Given the description of an element on the screen output the (x, y) to click on. 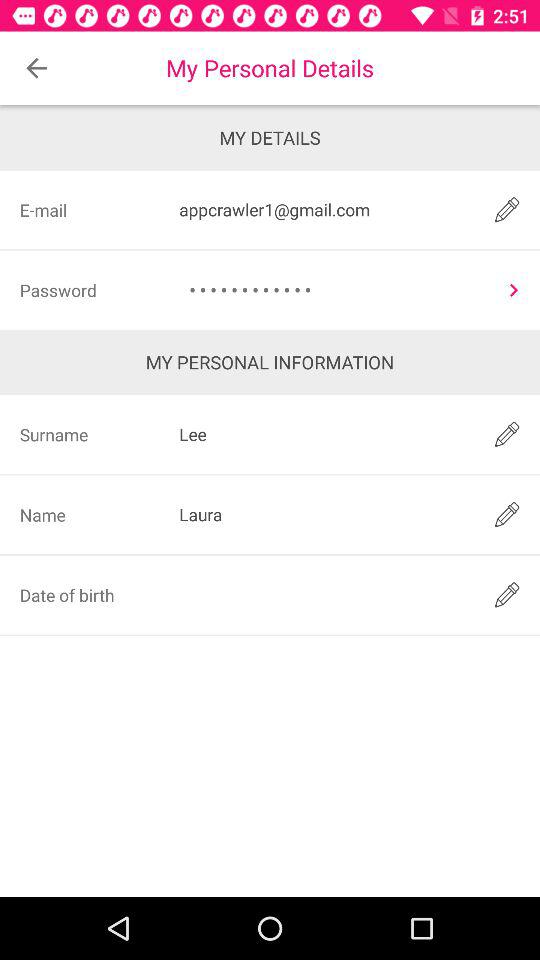
enters the password (513, 290)
